Given the description of an element on the screen output the (x, y) to click on. 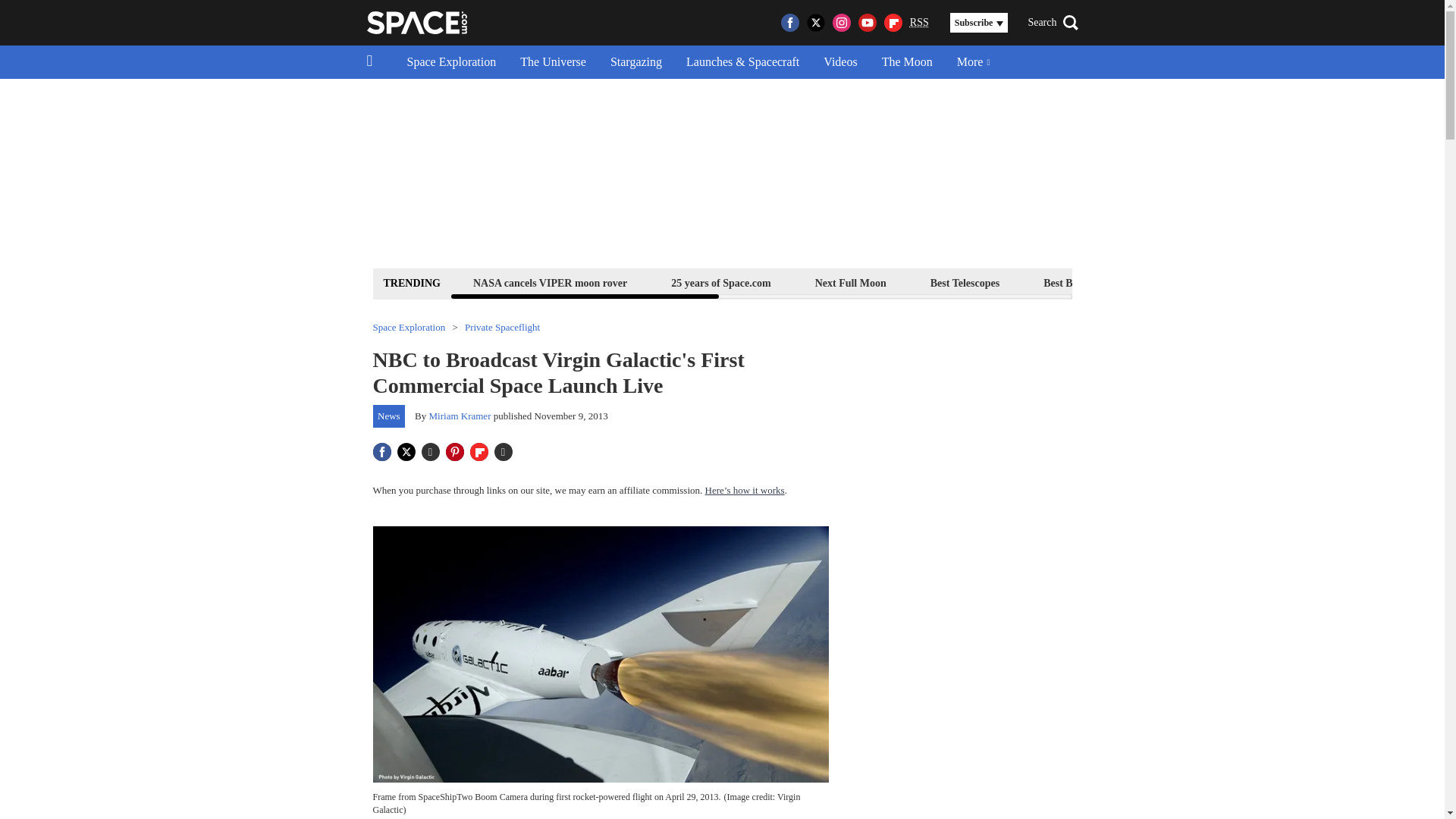
Really Simple Syndication (919, 21)
The Moon (906, 61)
25 years of Space.com (720, 282)
Best Binoculars (1078, 282)
Space Calendar (1329, 282)
Videos (839, 61)
The Universe (553, 61)
Best Telescopes (964, 282)
Next Full Moon (850, 282)
Space Exploration (451, 61)
Best Star Projectors (1204, 282)
RSS (919, 22)
NASA cancels VIPER moon rover (549, 282)
Stargazing (636, 61)
